Given the description of an element on the screen output the (x, y) to click on. 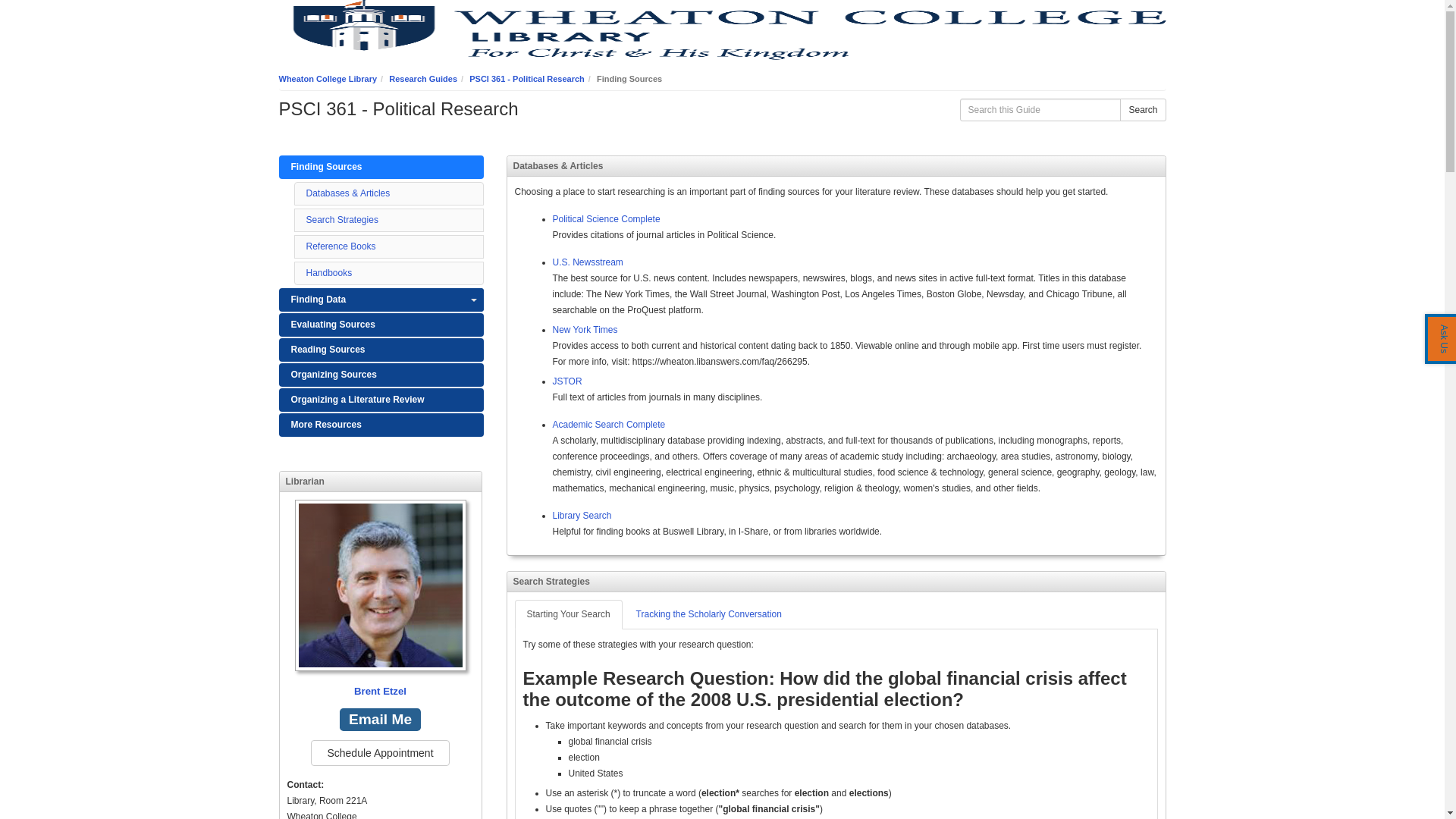
Evaluating Sources (381, 324)
Organizing Sources (381, 374)
PSCI 361 - Political Research (526, 78)
Research Guides (422, 78)
Email Me (379, 720)
Finding Sources (381, 167)
Finding Data (381, 300)
Reference Books (340, 245)
More Resources (381, 424)
Academic Search Complete (608, 424)
Starting Your Search (567, 614)
Organizing a Literature Review (381, 399)
Handbooks (328, 272)
Toggle Dropdown (473, 300)
Reading Sources (381, 349)
